Given the description of an element on the screen output the (x, y) to click on. 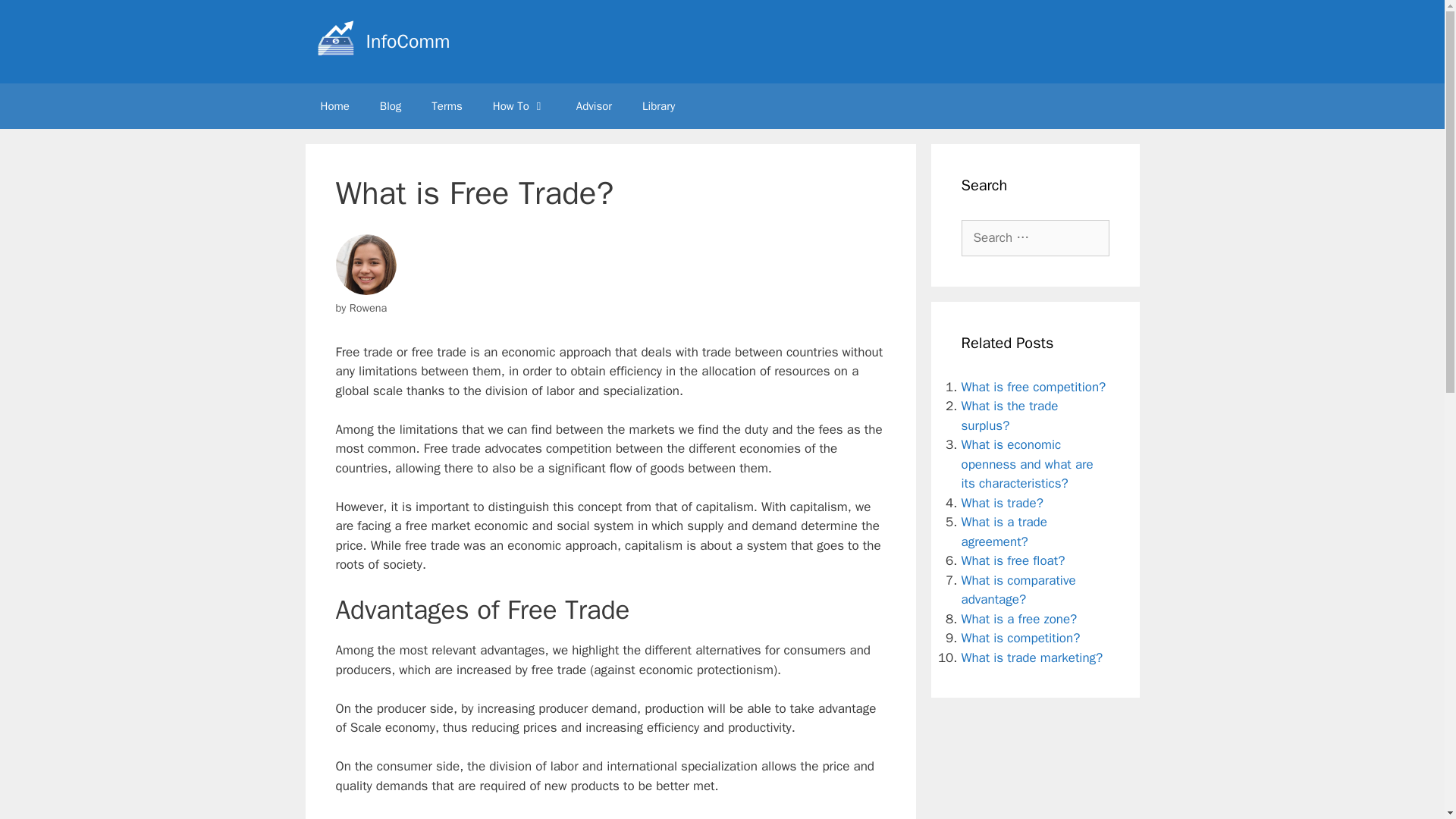
InfoComm (407, 41)
What is a trade agreement? (1003, 531)
What is trade marketing? (1031, 657)
View all posts by Rowena (368, 307)
Rowena (368, 307)
What is trade? (1001, 502)
What is the trade surplus? (1009, 416)
What is economic openness and what are its characteristics? (1026, 463)
What is free float? (1012, 560)
Home (334, 105)
How To (518, 105)
Advisor (593, 105)
Terms (446, 105)
Search (35, 18)
Blog (390, 105)
